Given the description of an element on the screen output the (x, y) to click on. 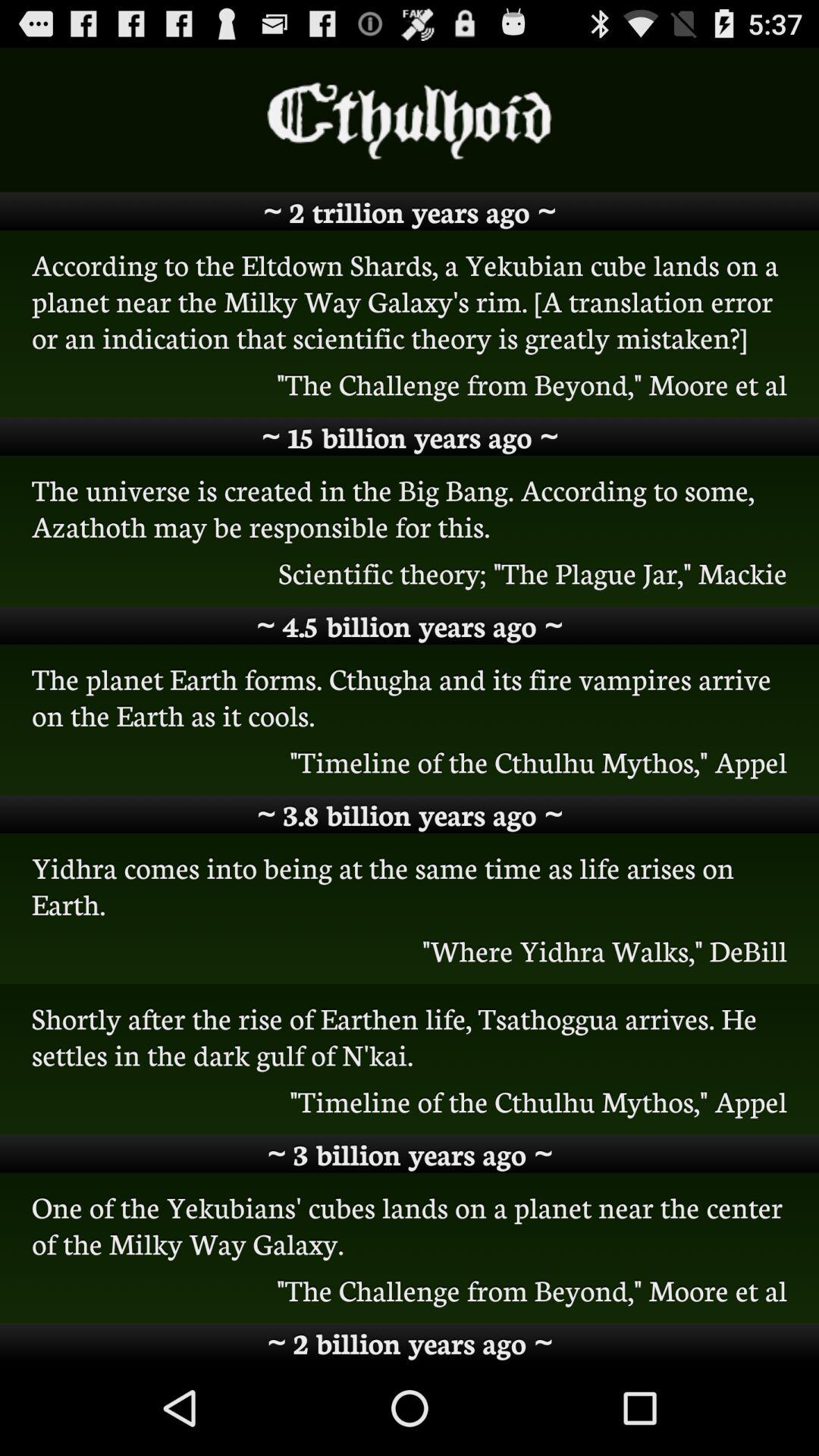
open the item above the planet earth icon (409, 625)
